Given the description of an element on the screen output the (x, y) to click on. 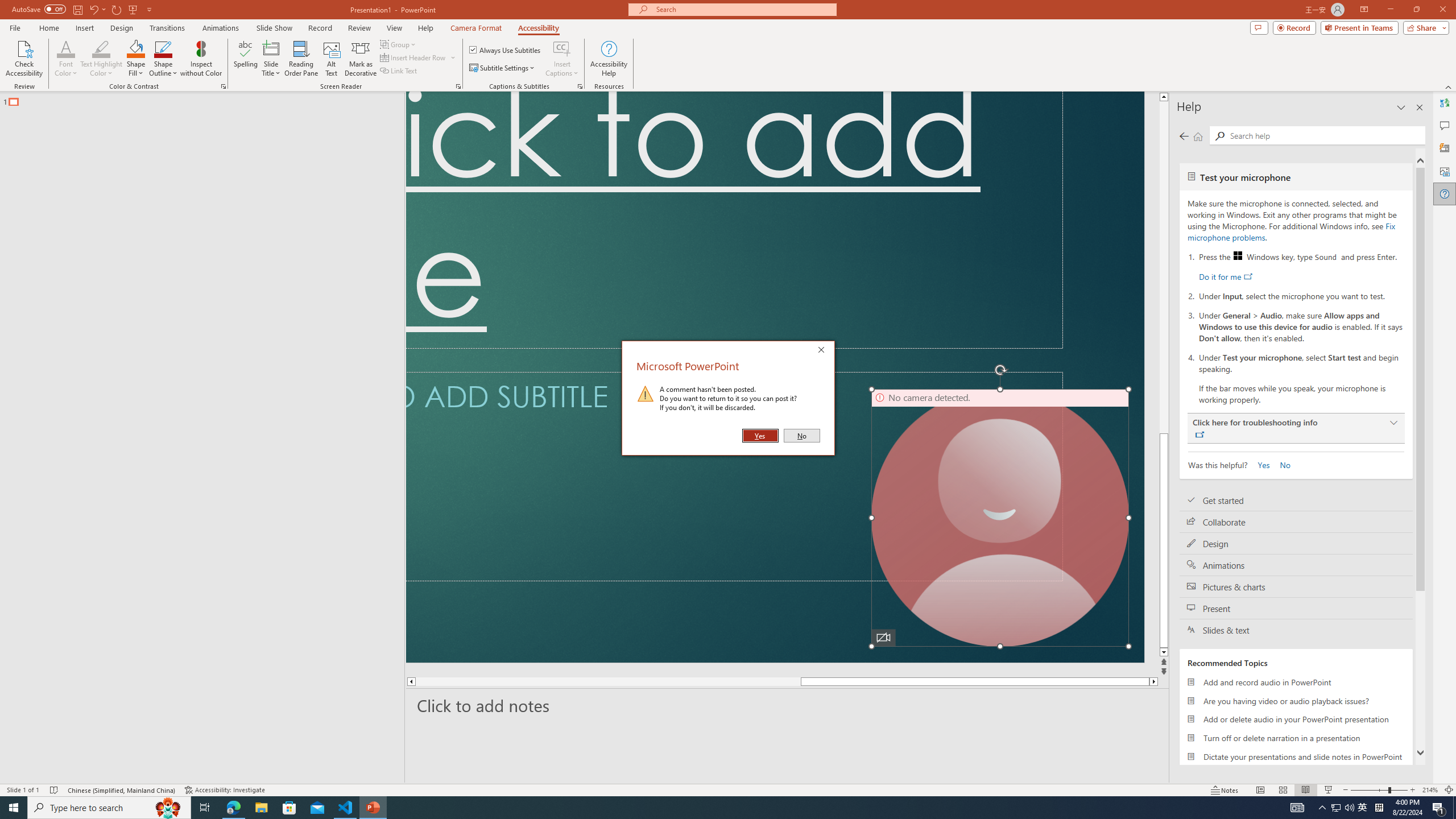
Insert Captions (561, 58)
Always Use Subtitles (505, 49)
Present (1295, 608)
Camera 8, No camera detected. (999, 517)
Warning Icon (645, 393)
